Given the description of an element on the screen output the (x, y) to click on. 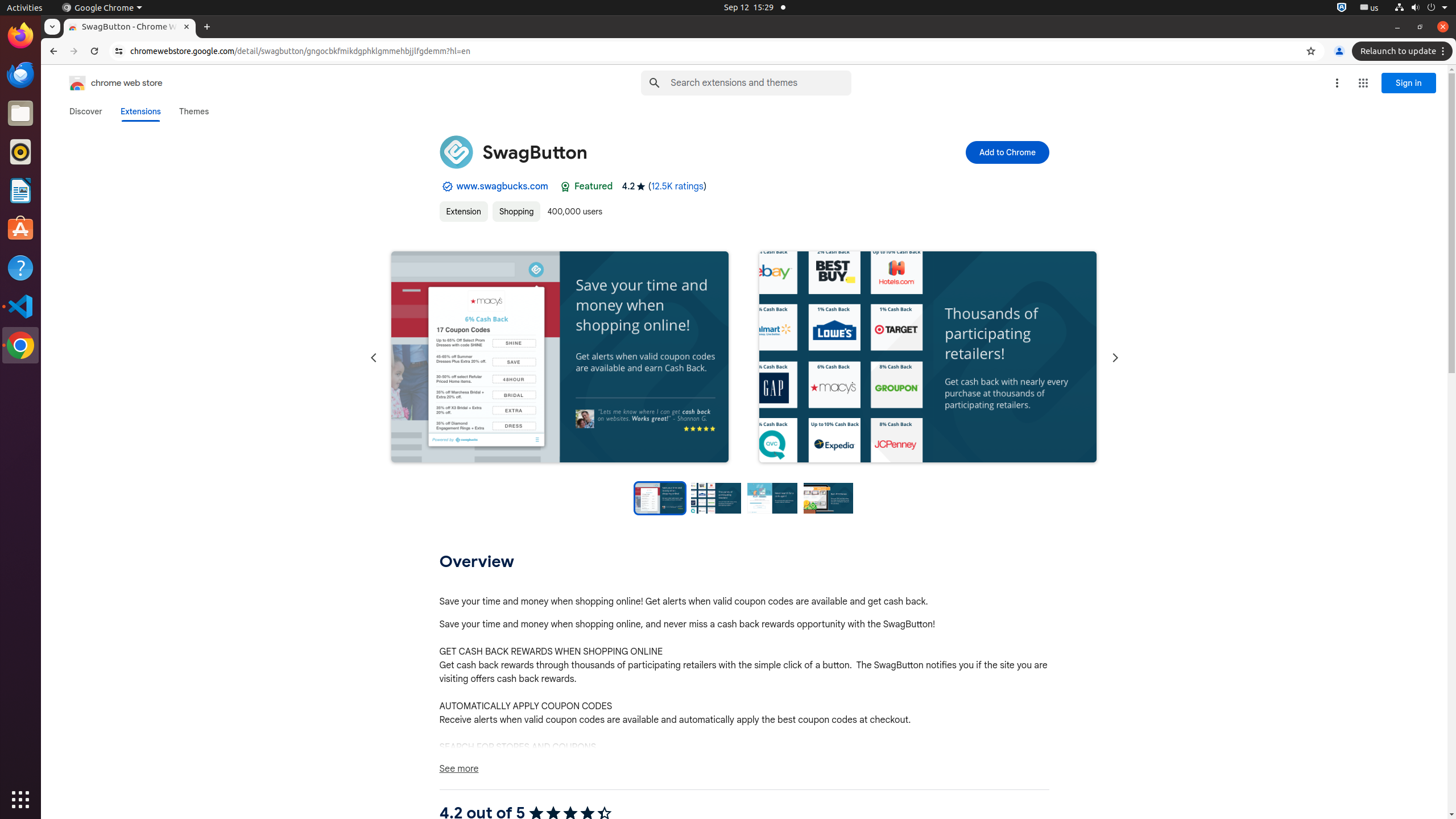
Extension Element type: link (463, 211)
Item logo image for SwagButton SwagButton Element type: link (666, 152)
www.swagbucks.com Element type: link (502, 186)
Item media 2 screenshot Element type: push-button (927, 357)
More options menu Element type: push-button (1336, 82)
